Given the description of an element on the screen output the (x, y) to click on. 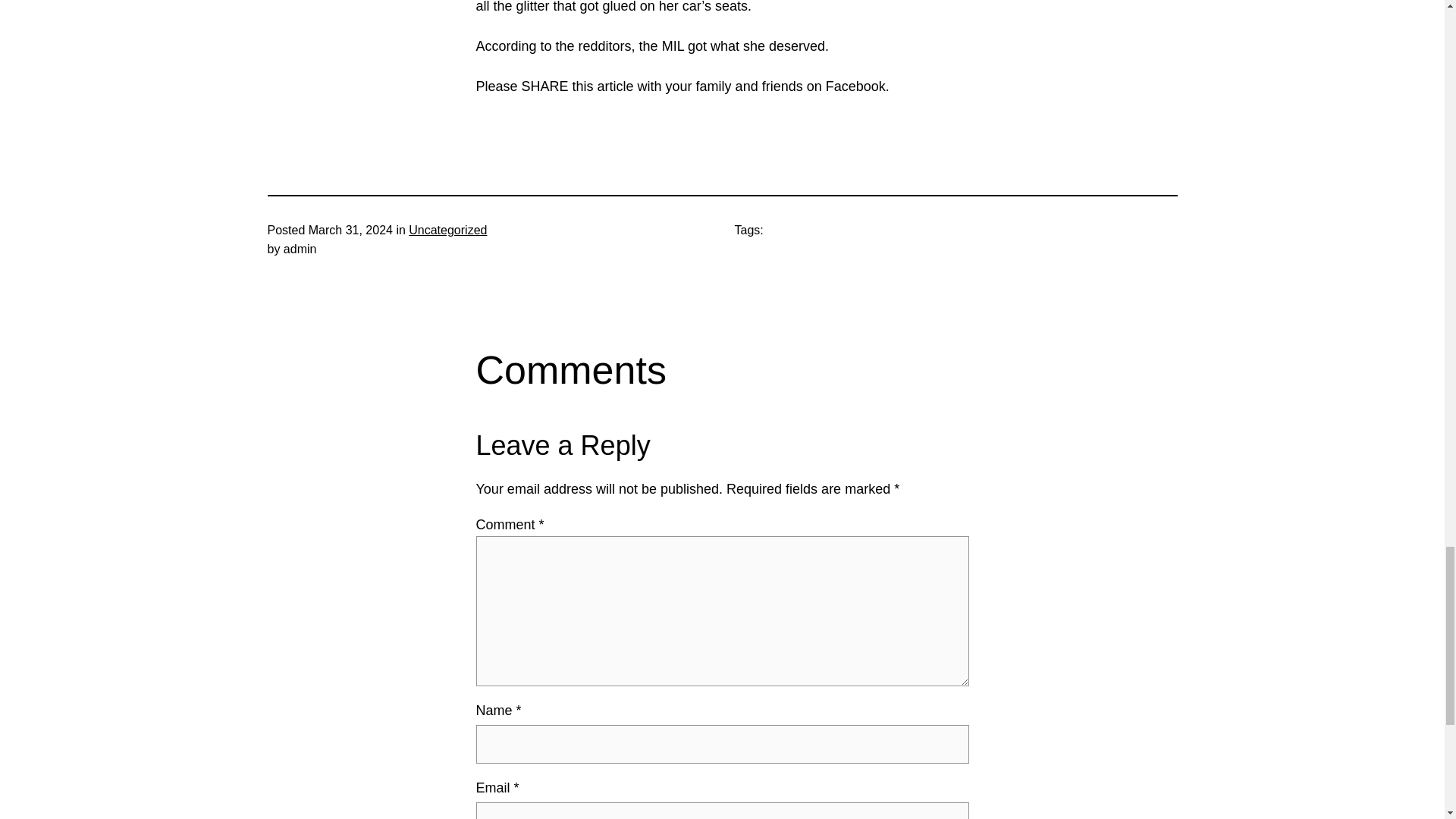
Uncategorized (447, 229)
